Given the description of an element on the screen output the (x, y) to click on. 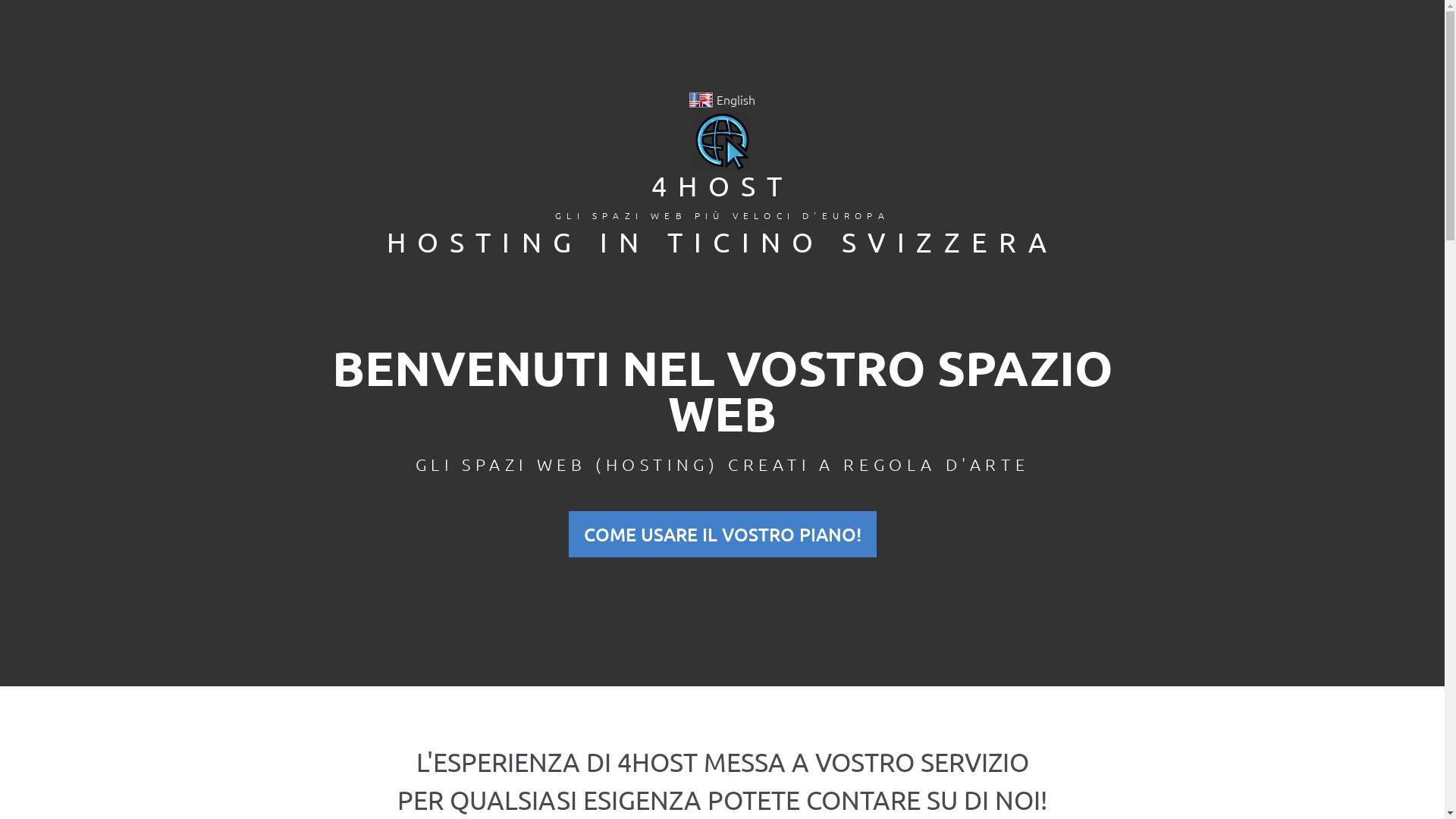
English Element type: text (722, 99)
HOSTING IN TICINO SVIZZERA Element type: text (721, 241)
COME USARE IL VOSTRO PIANO! Element type: text (722, 534)
4HOST Element type: text (722, 185)
GLI SPAZI WEB (HOSTING) CREATI A REGOLA D'ARTE Element type: text (722, 463)
